Given the description of an element on the screen output the (x, y) to click on. 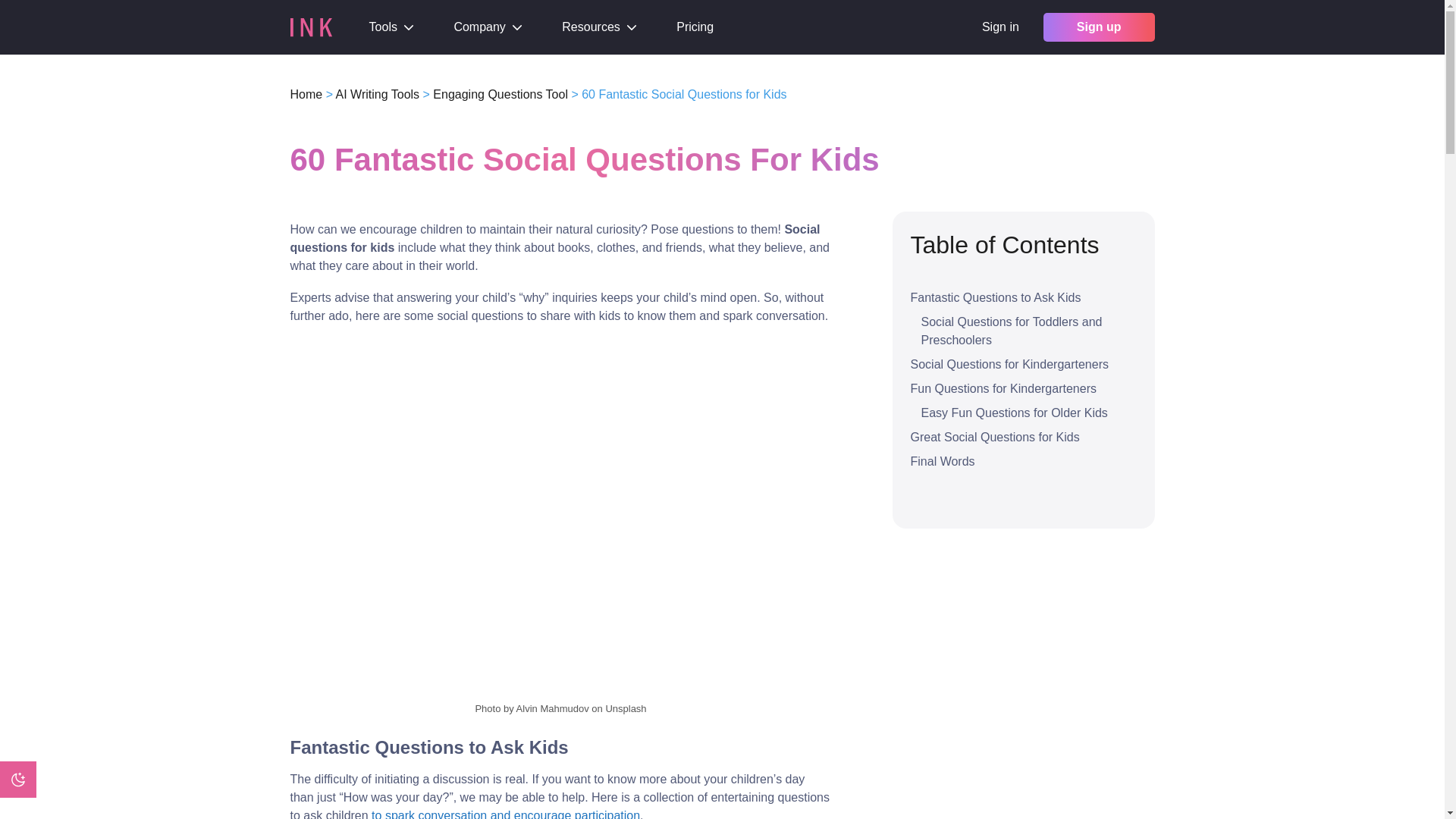
Sign up (1098, 27)
Pricing (694, 27)
Sign in (1000, 27)
